Given the description of an element on the screen output the (x, y) to click on. 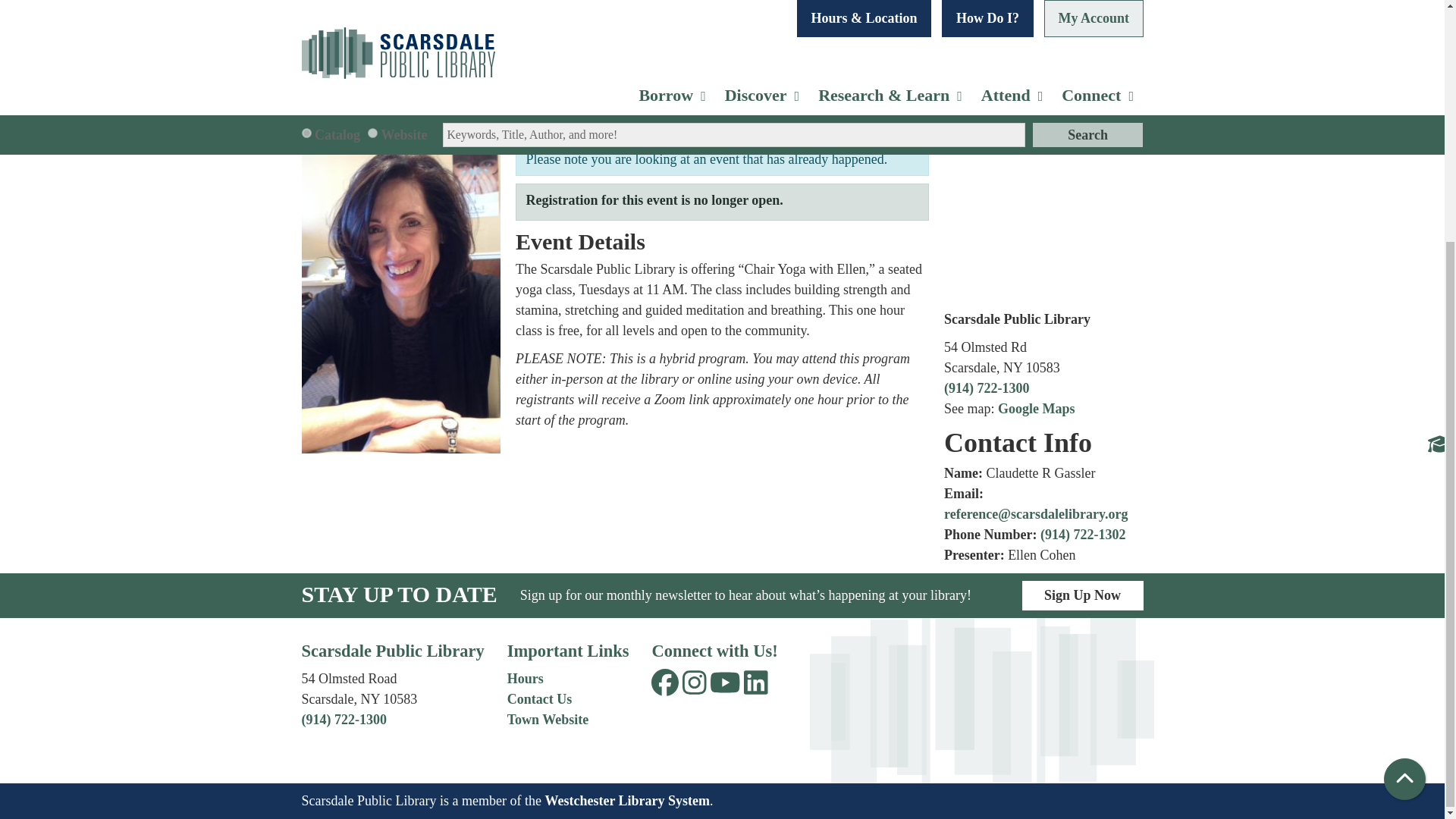
Back To Top (1404, 445)
